Given the description of an element on the screen output the (x, y) to click on. 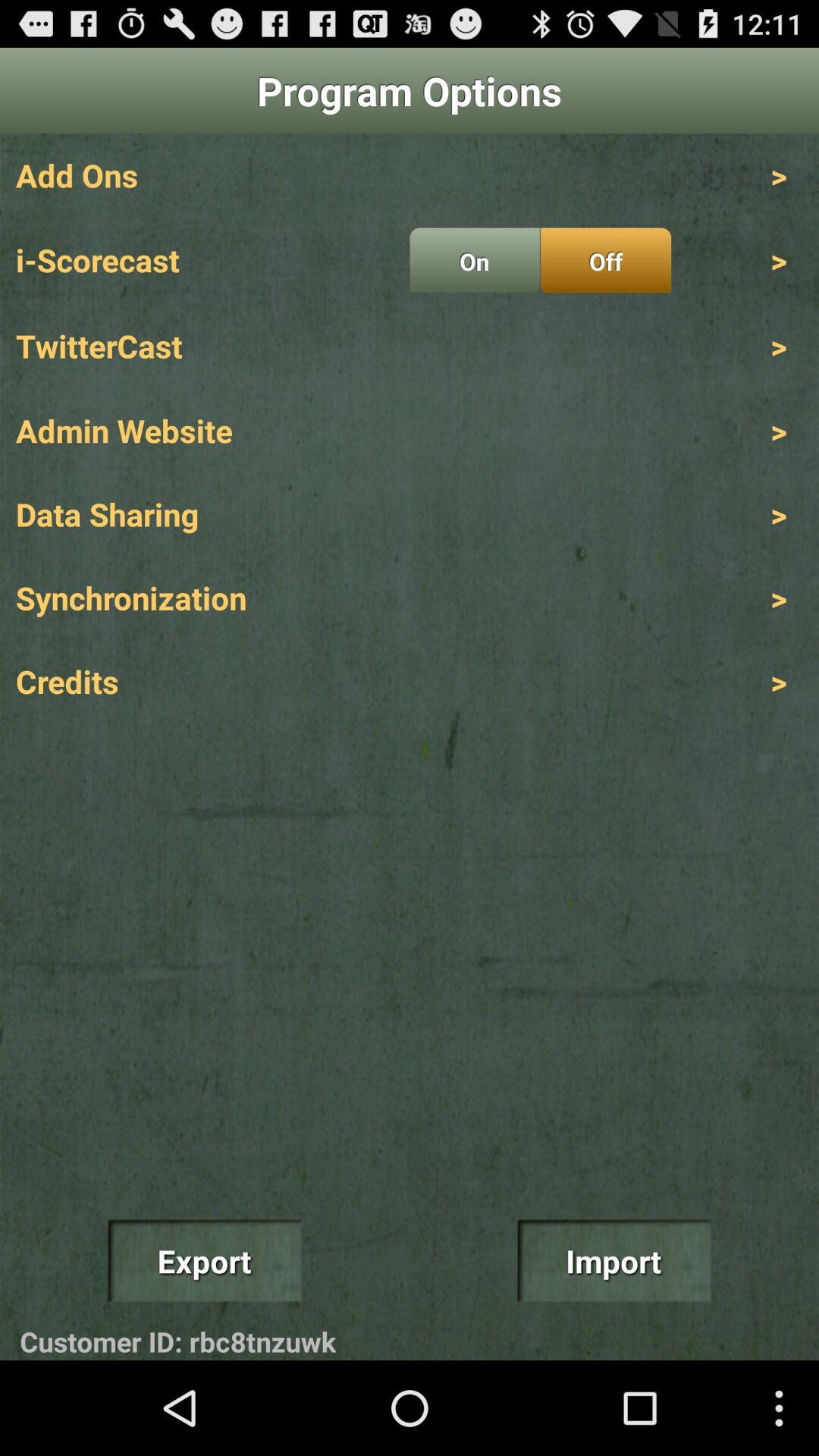
swipe to import icon (613, 1260)
